Given the description of an element on the screen output the (x, y) to click on. 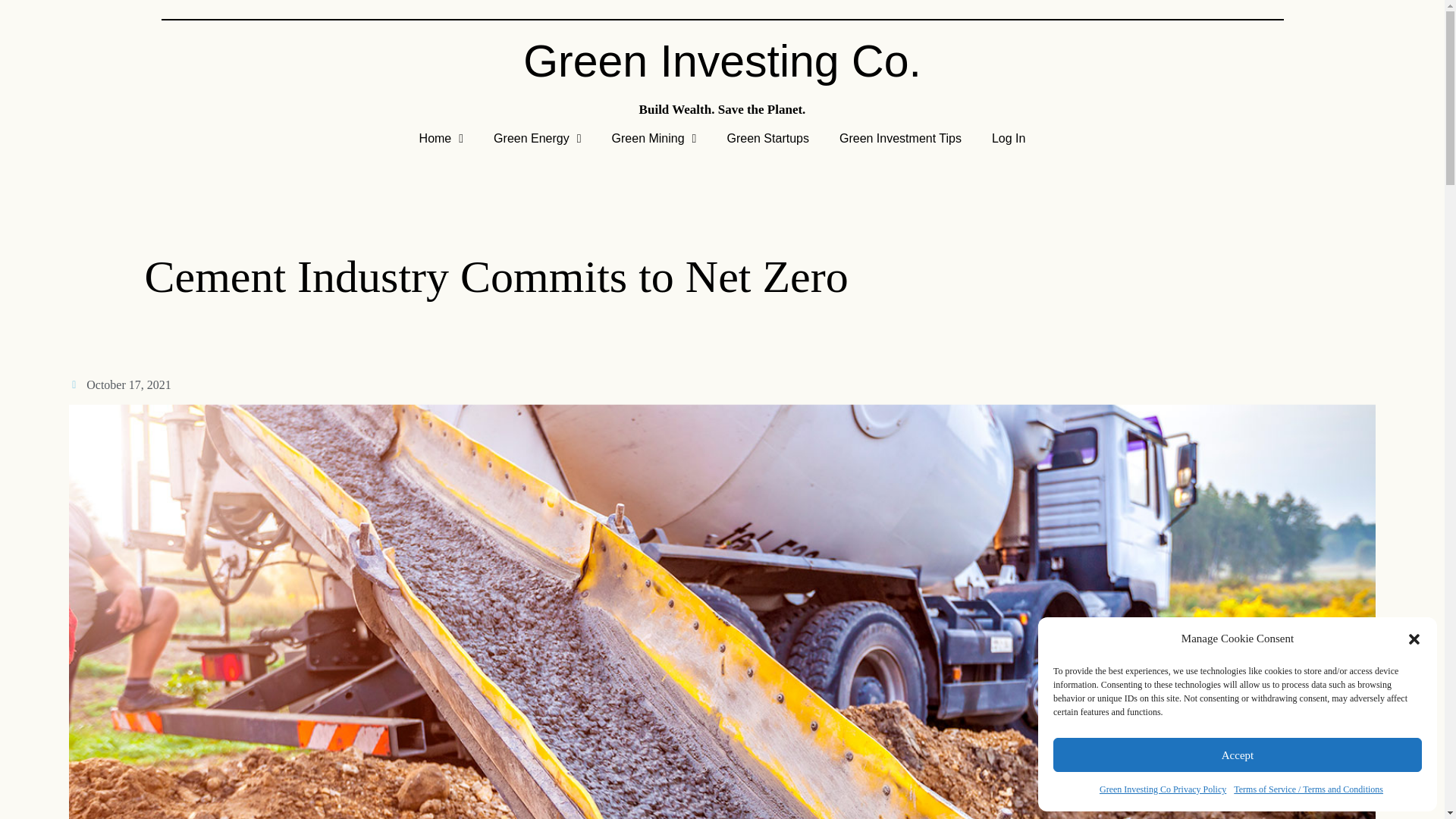
Accept (1237, 754)
Green Investing Co Privacy Policy (1162, 789)
Green Energy (537, 138)
Log In (1008, 138)
Green Investment Tips (900, 138)
Home (441, 138)
Green Mining (653, 138)
Green Startups (767, 138)
Green Investing Co. (721, 61)
